Given the description of an element on the screen output the (x, y) to click on. 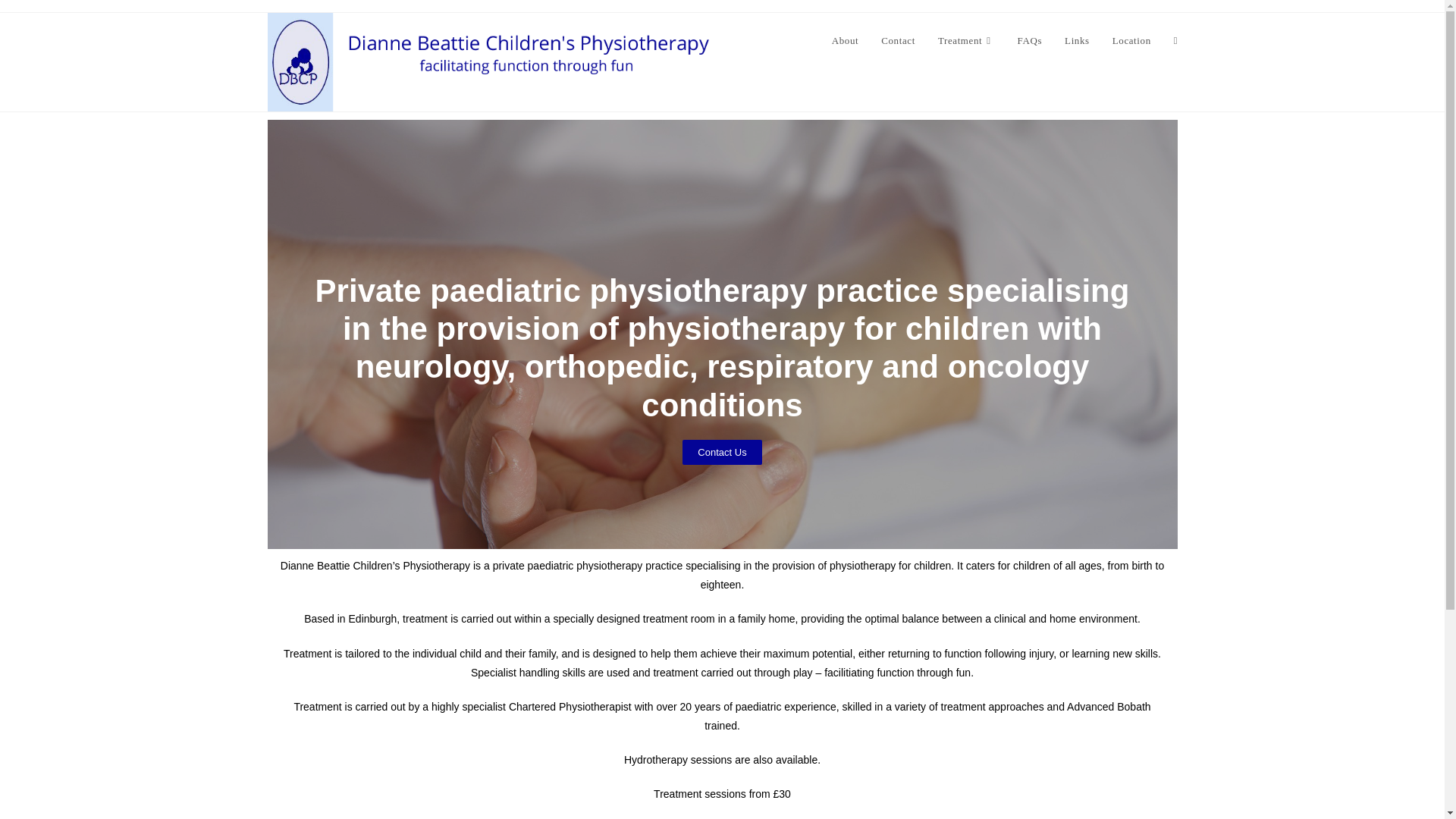
Contact Us (721, 452)
Location (1130, 40)
About (845, 40)
Treatment (966, 40)
Contact (897, 40)
